Given the description of an element on the screen output the (x, y) to click on. 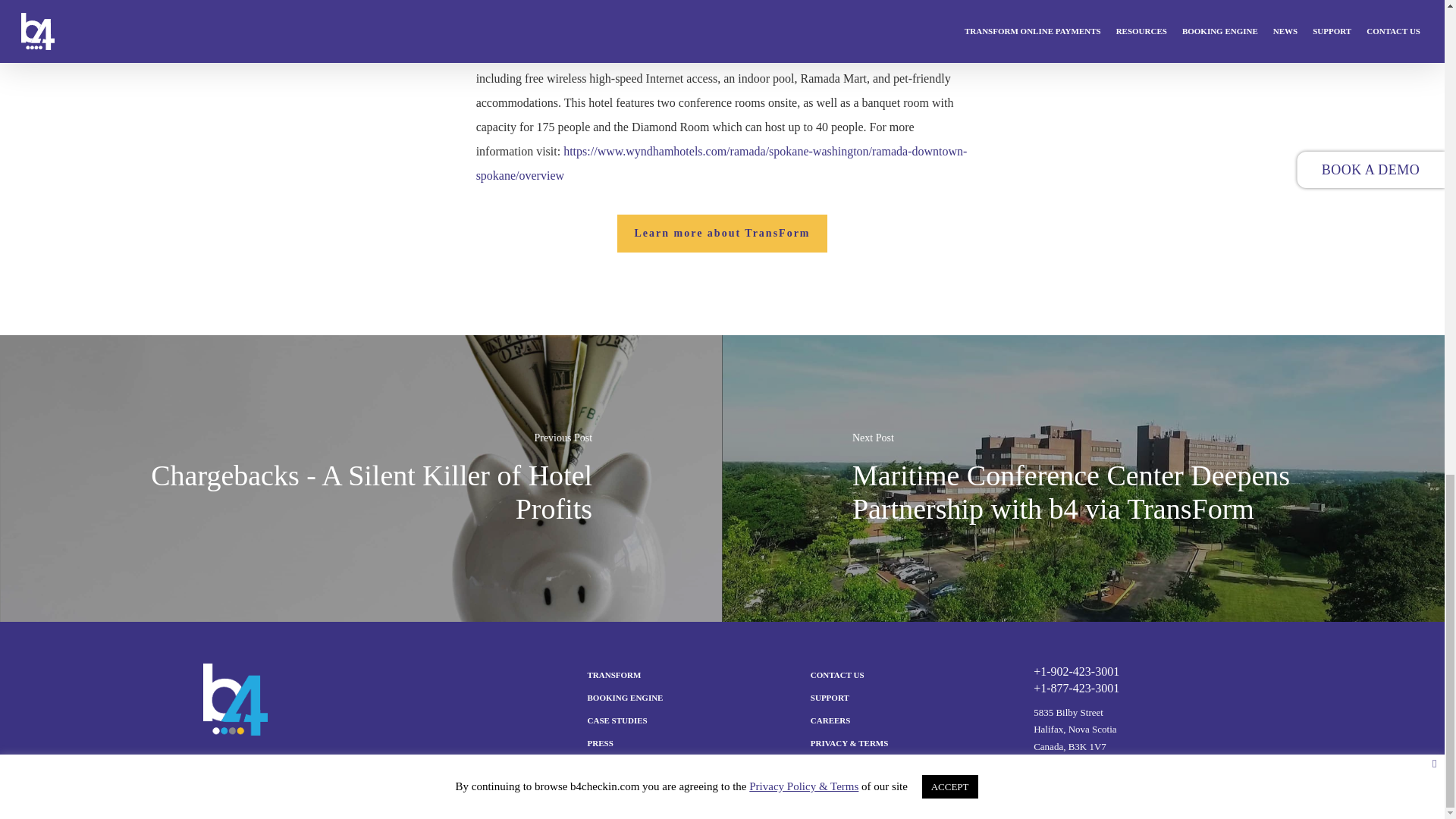
SUPPORT (911, 697)
CAREERS (911, 719)
PRESS (689, 742)
NEWS (689, 765)
BOOKING ENGINE (689, 697)
CASE STUDIES (689, 719)
TRANSFORM (689, 674)
Learn more about TransForm (722, 233)
CONTACT US (911, 674)
